Given the description of an element on the screen output the (x, y) to click on. 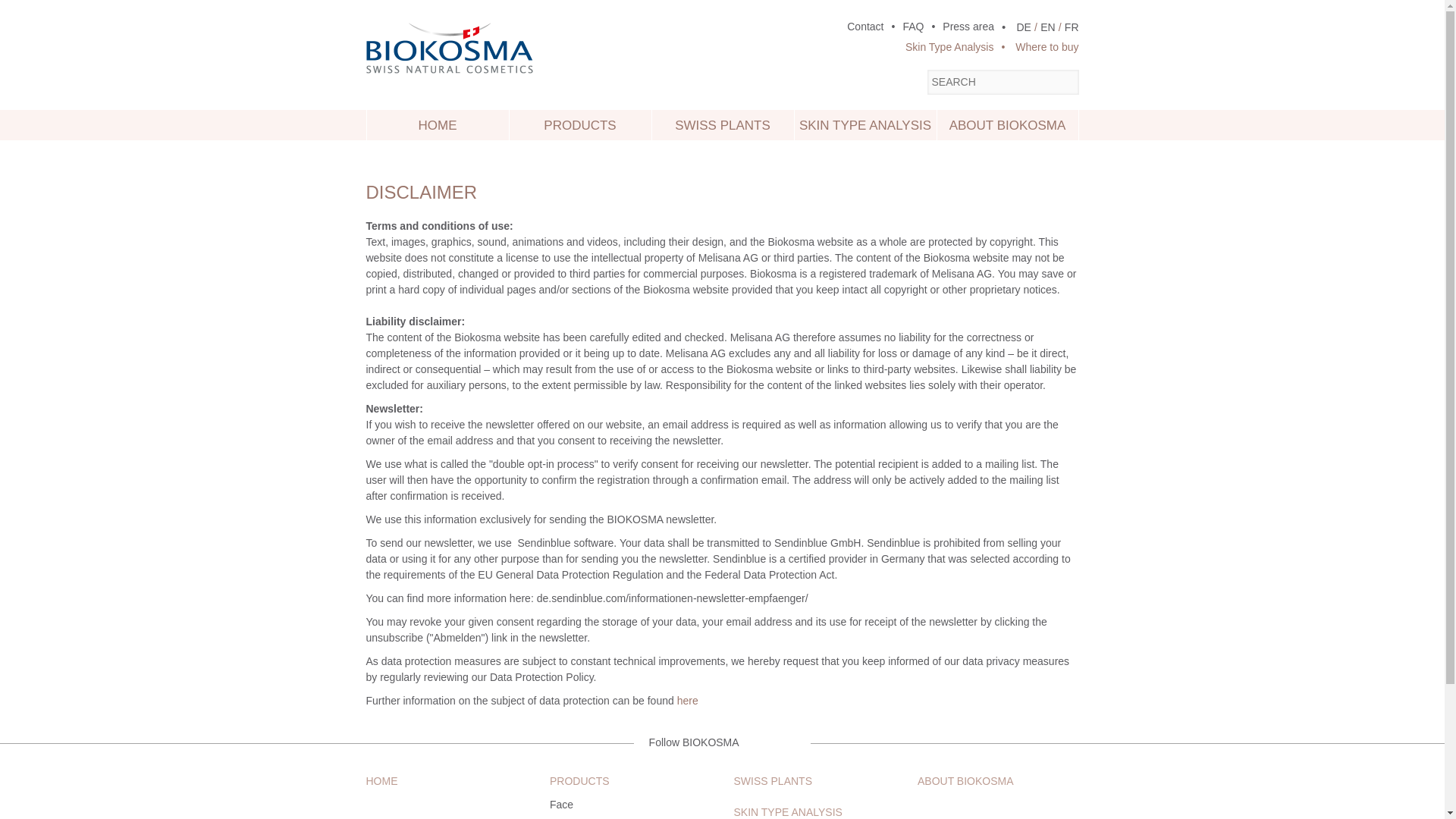
PRODUCTS (579, 124)
SKIN TYPE ANALYSIS (865, 124)
PRODUCTS - Swiss Natural Cosmetics (579, 124)
Skin Type Analysis - Find the right skin care for you (948, 46)
FAQ (903, 26)
FAQ -  Frequently Asked Questions (903, 26)
DISCLAIMER - Swiss Natural Cosmetics (1023, 27)
PRESS AREA - Swiss Natural Cosmetics (958, 26)
DE (1023, 27)
